Given the description of an element on the screen output the (x, y) to click on. 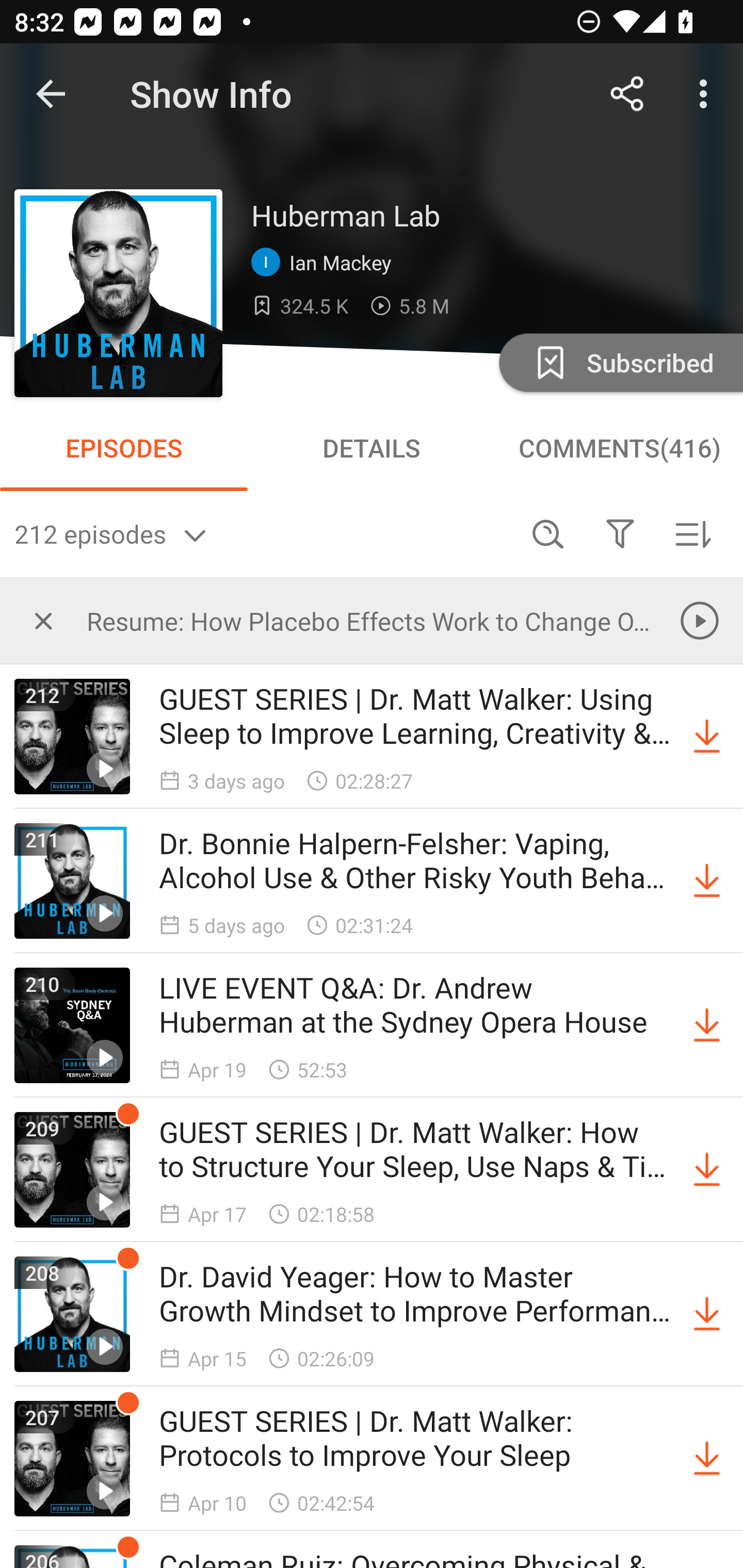
Navigate up (50, 93)
Share (626, 93)
More options (706, 93)
Ian Mackey (326, 262)
Unsubscribe Subscribed (619, 361)
EPISODES (123, 447)
DETAILS (371, 447)
COMMENTS(416) (619, 447)
212 episodes  (262, 533)
 Search (547, 533)
 (619, 533)
 Sorted by newest first (692, 533)
 (43, 620)
Download (706, 736)
Download (706, 881)
Download (706, 1025)
Download (706, 1169)
Download (706, 1313)
Download (706, 1458)
